Given the description of an element on the screen output the (x, y) to click on. 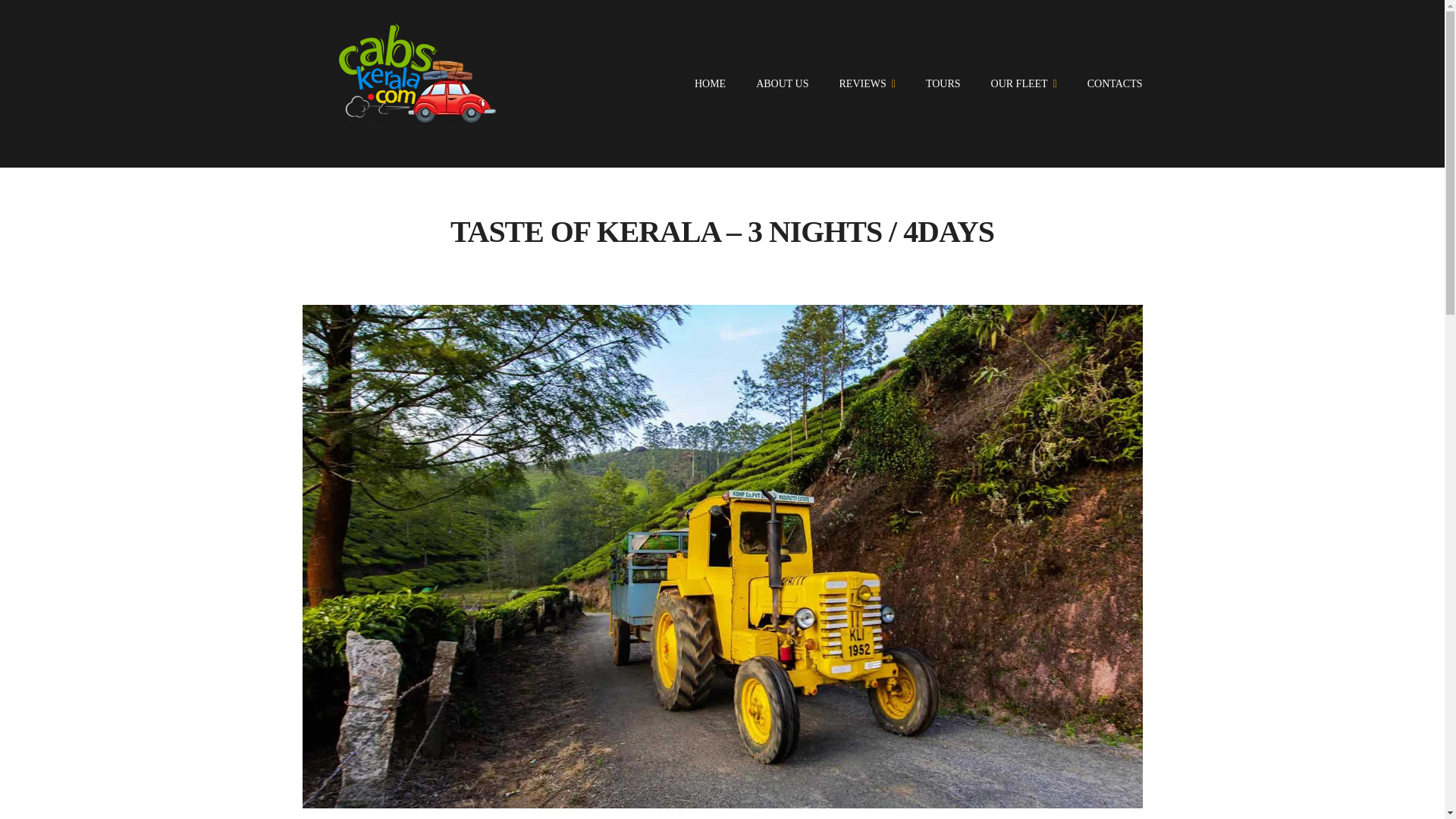
ABOUT US (781, 83)
HOME (709, 83)
TOURS (943, 83)
CONTACTS (1114, 83)
REVIEWS (867, 83)
OUR FLEET (1024, 83)
